Given the description of an element on the screen output the (x, y) to click on. 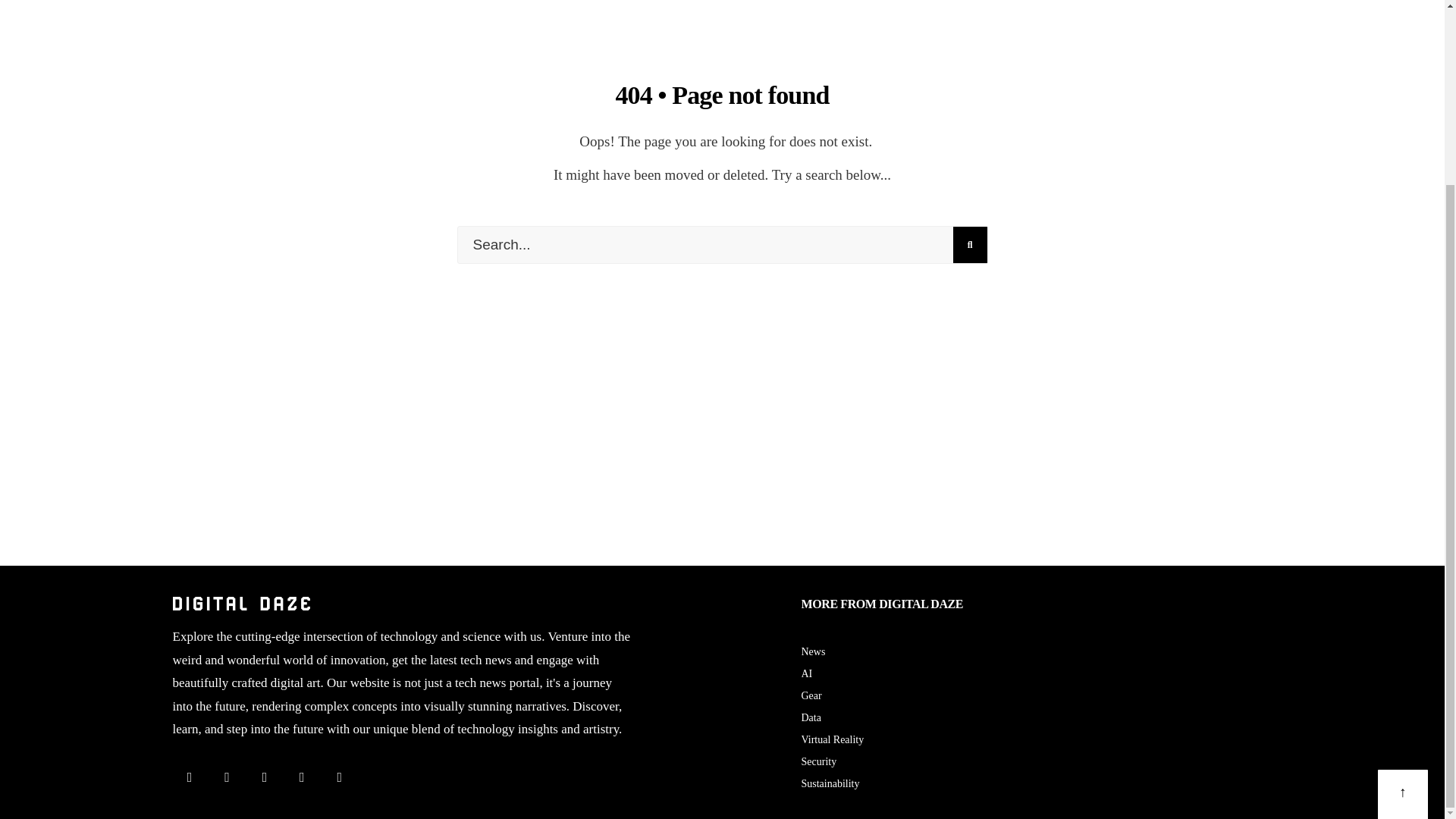
Sustainability (829, 783)
Search... (722, 244)
News (812, 651)
AI (806, 673)
Security (817, 761)
Scroll to top (1402, 566)
Data (810, 717)
Gear (810, 695)
Virtual Reality (831, 739)
